Given the description of an element on the screen output the (x, y) to click on. 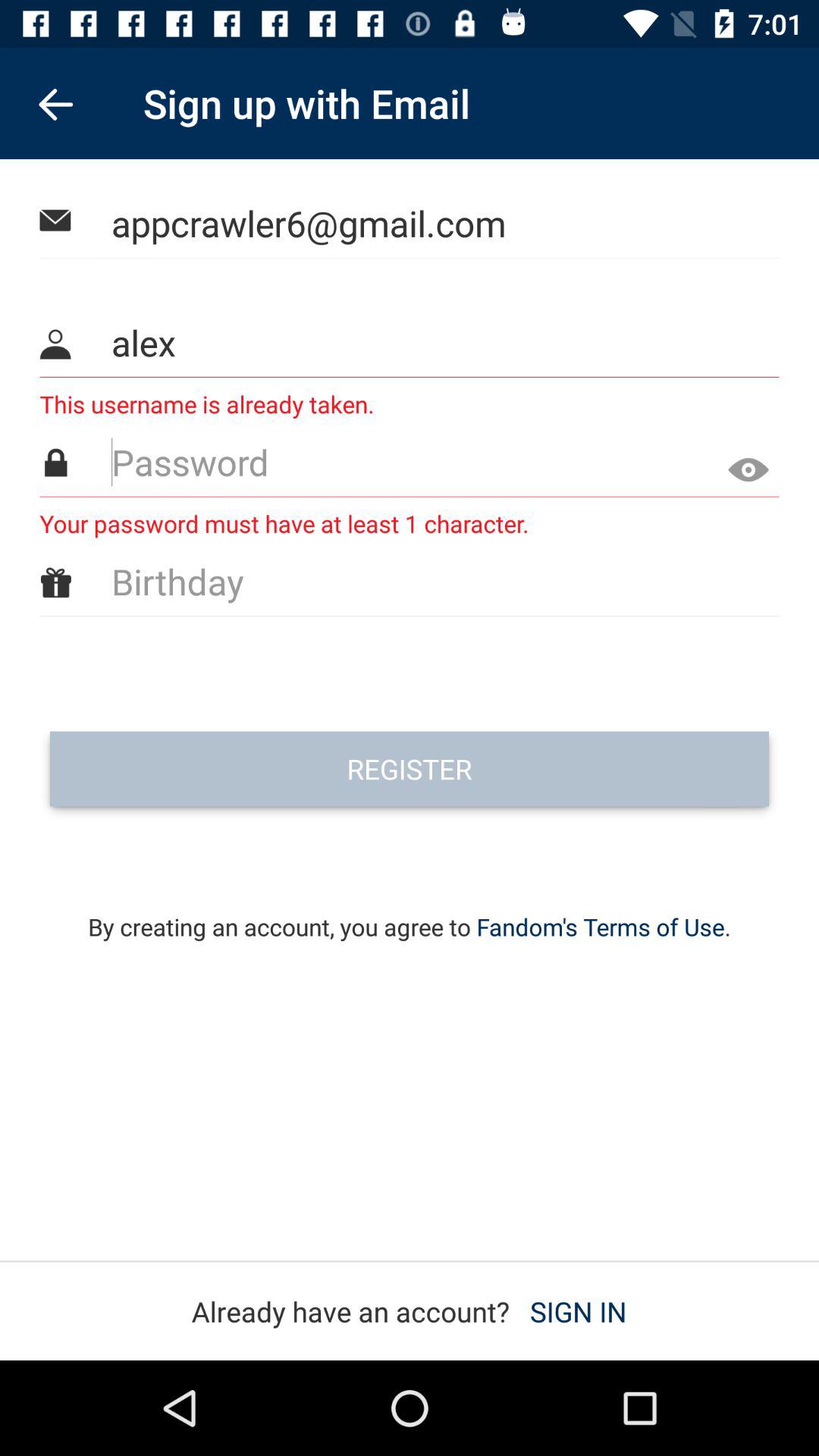
press the alex item (410, 342)
